Given the description of an element on the screen output the (x, y) to click on. 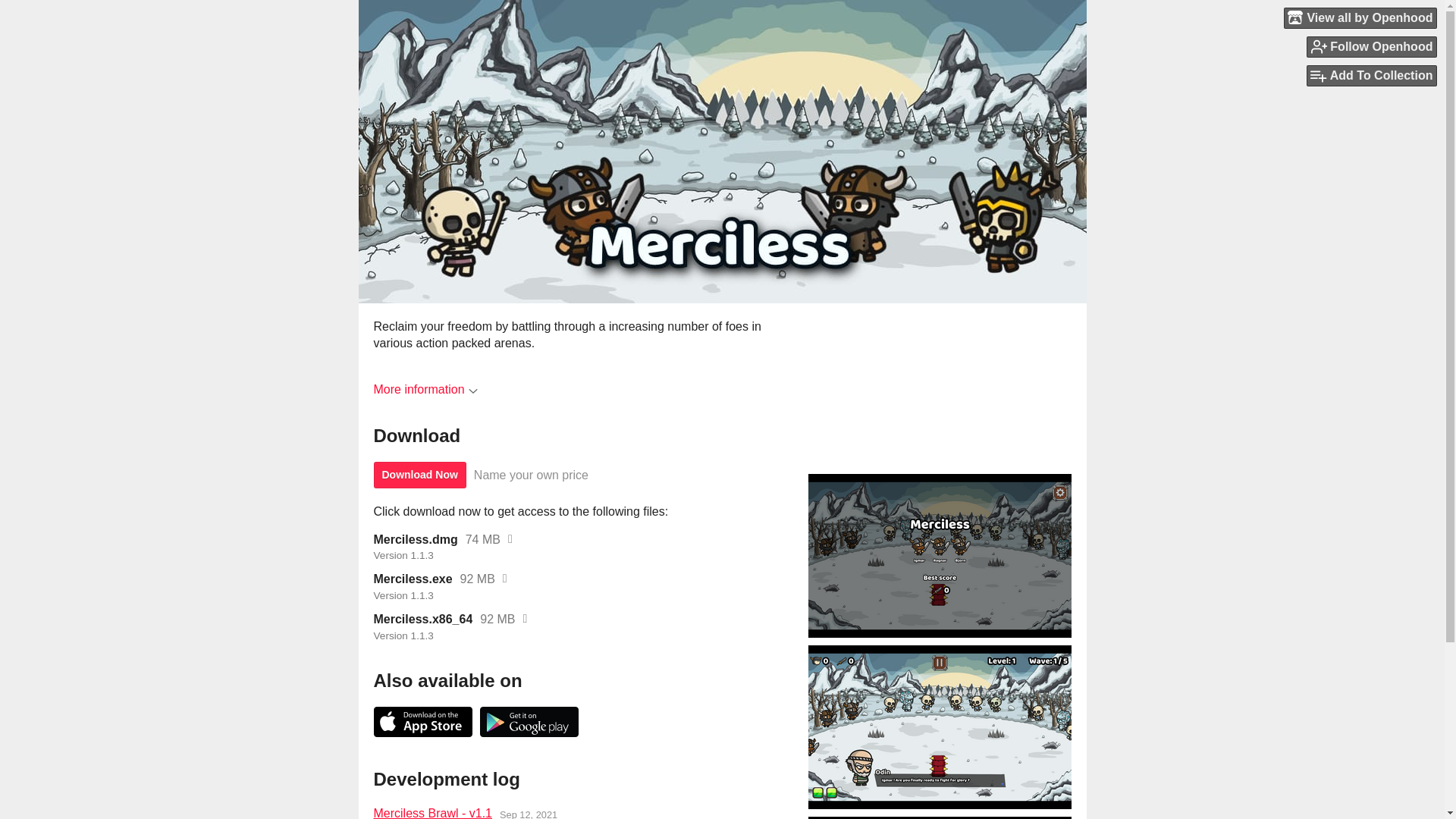
More information (424, 389)
Merciless.exe (411, 579)
Merciless Brawl - v1.1 (432, 812)
Follow Openhood (1371, 46)
Download Now (418, 474)
View all by Openhood (1360, 17)
Add To Collection (1371, 75)
Merciless.dmg (414, 540)
